Given the description of an element on the screen output the (x, y) to click on. 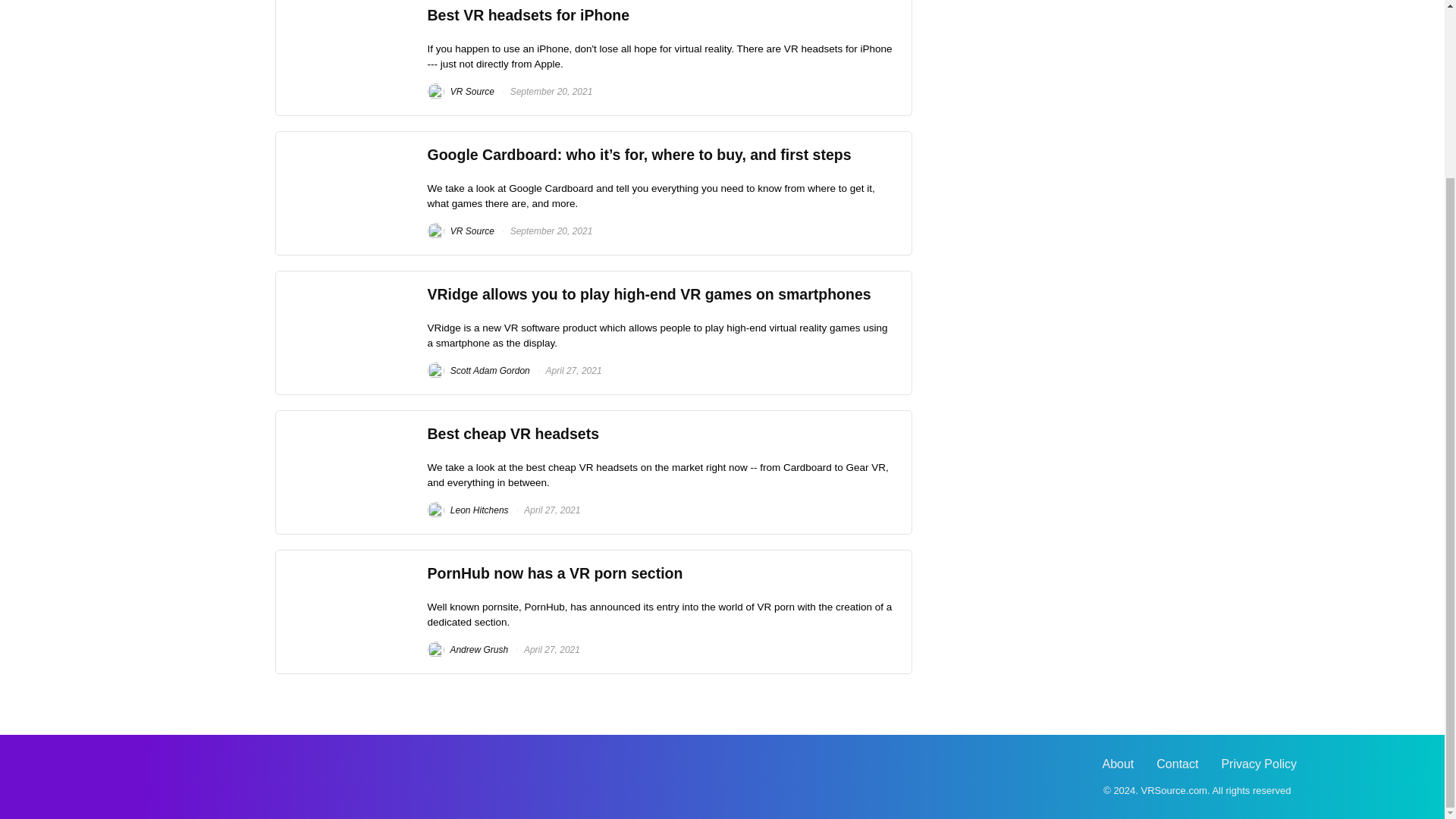
Contact (1177, 763)
Best VR headsets for iPhone (529, 14)
VR Source (461, 91)
Privacy Policy (1259, 763)
PornHub now has a VR porn section (555, 573)
Andrew Grush (468, 649)
VRidge allows you to play high-end VR games on smartphones (649, 293)
Scott Adam Gordon (478, 370)
VR Source (461, 231)
Best cheap VR headsets (513, 433)
Leon Hitchens (468, 510)
About (1118, 763)
